Given the description of an element on the screen output the (x, y) to click on. 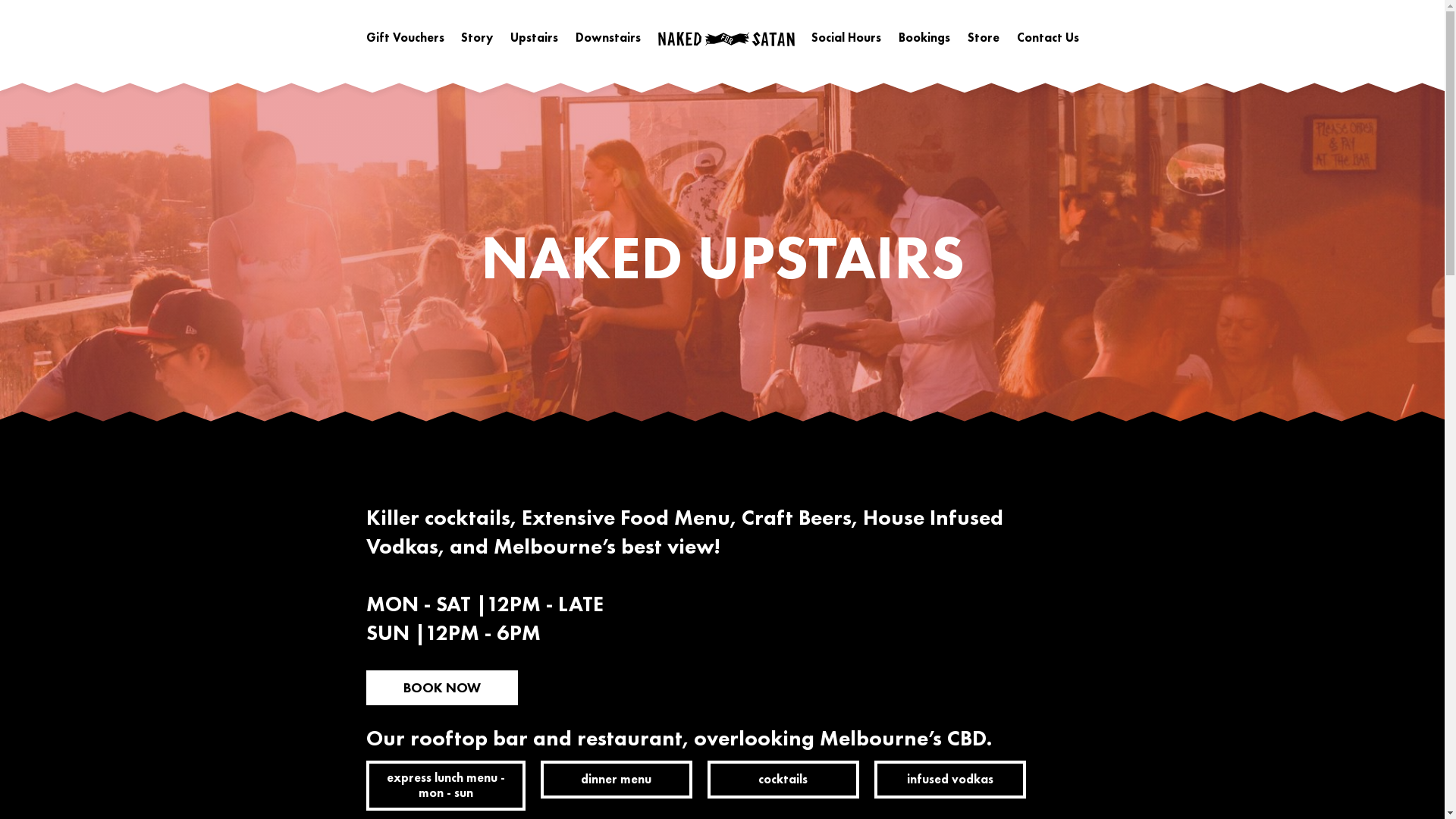
BOOK NOW Element type: text (441, 687)
dinner menu Element type: text (615, 779)
Bookings Element type: text (924, 38)
Store Element type: text (983, 38)
Upstairs Element type: text (534, 38)
Downstairs Element type: text (607, 38)
cocktails Element type: text (782, 779)
Gift Vouchers Element type: text (404, 38)
express lunch menu - mon - sun Element type: text (444, 785)
Story Element type: text (476, 38)
Social Hours Element type: text (846, 38)
Contact Us Element type: text (1047, 38)
infused vodkas Element type: text (949, 779)
